Given the description of an element on the screen output the (x, y) to click on. 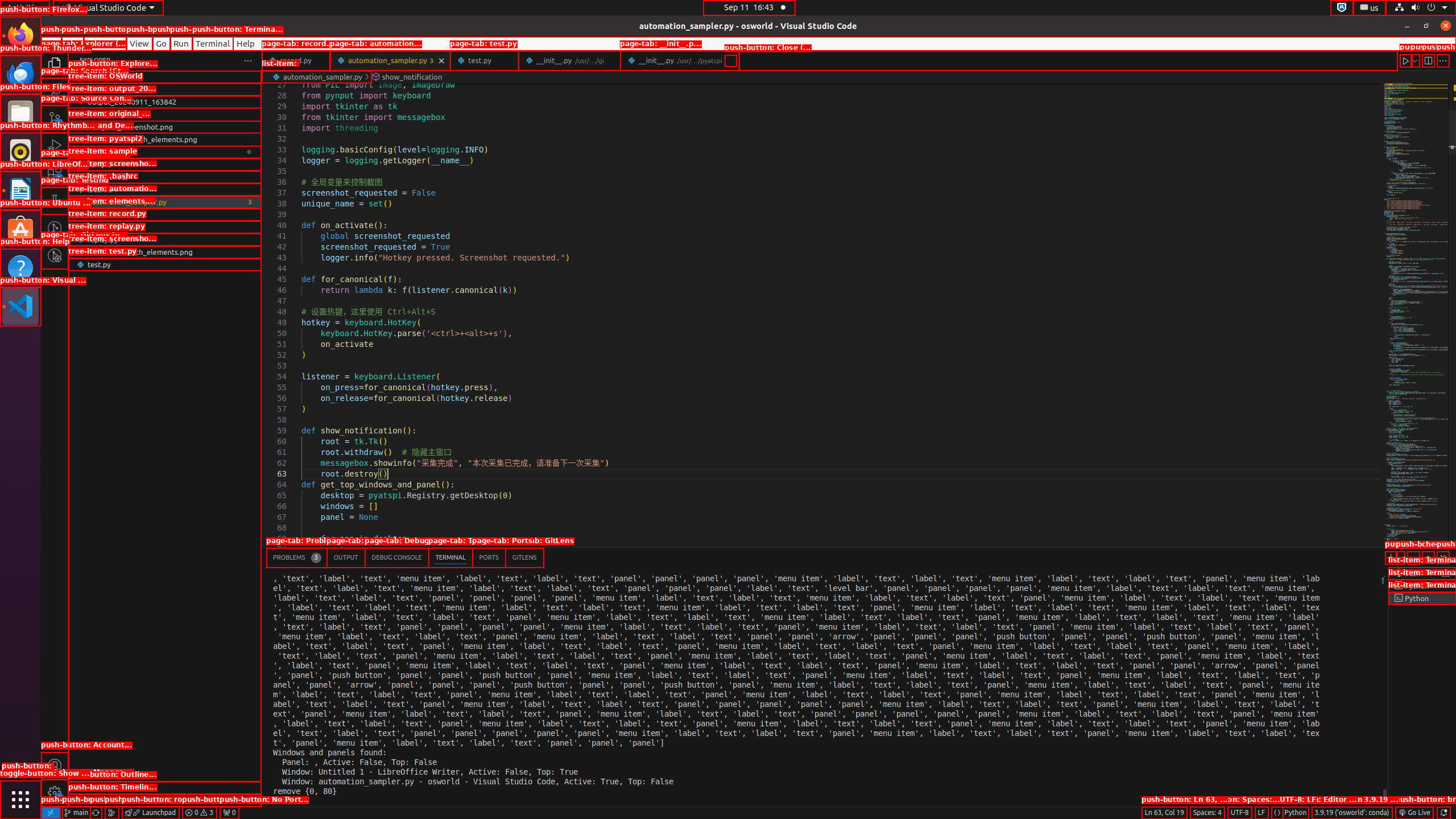
sample Element type: tree-item (164, 164)
automation_sampler.py Element type: page-tab (389, 60)
More Actions... Element type: push-button (1442, 60)
OSWorld (Git) - Synchronize Changes Element type: push-button (95, 812)
